Given the description of an element on the screen output the (x, y) to click on. 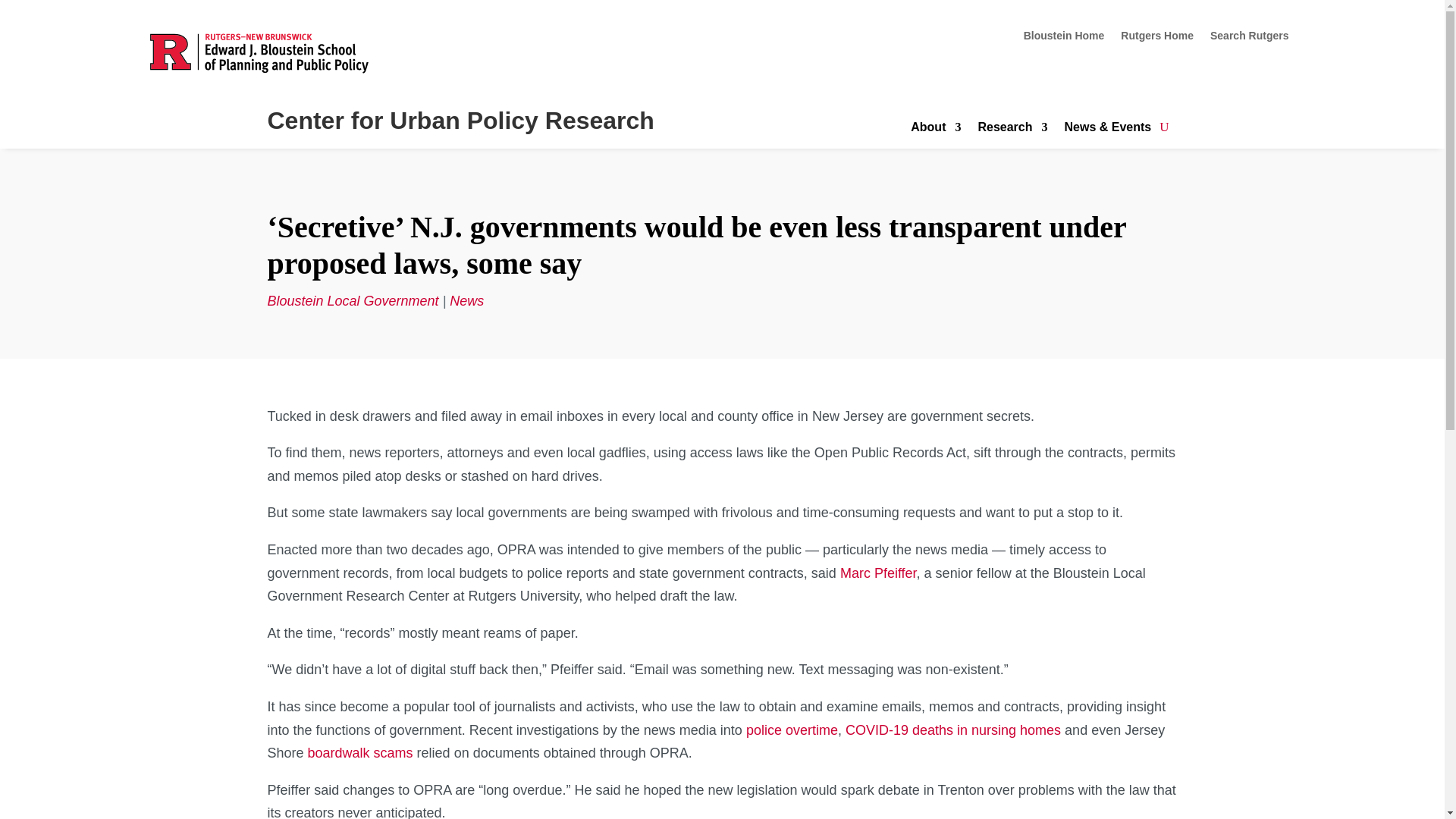
Bloustein Home (1064, 38)
Search Rutgers (1248, 38)
Rutgers Home (1157, 38)
About (935, 130)
Research (1011, 130)
